Given the description of an element on the screen output the (x, y) to click on. 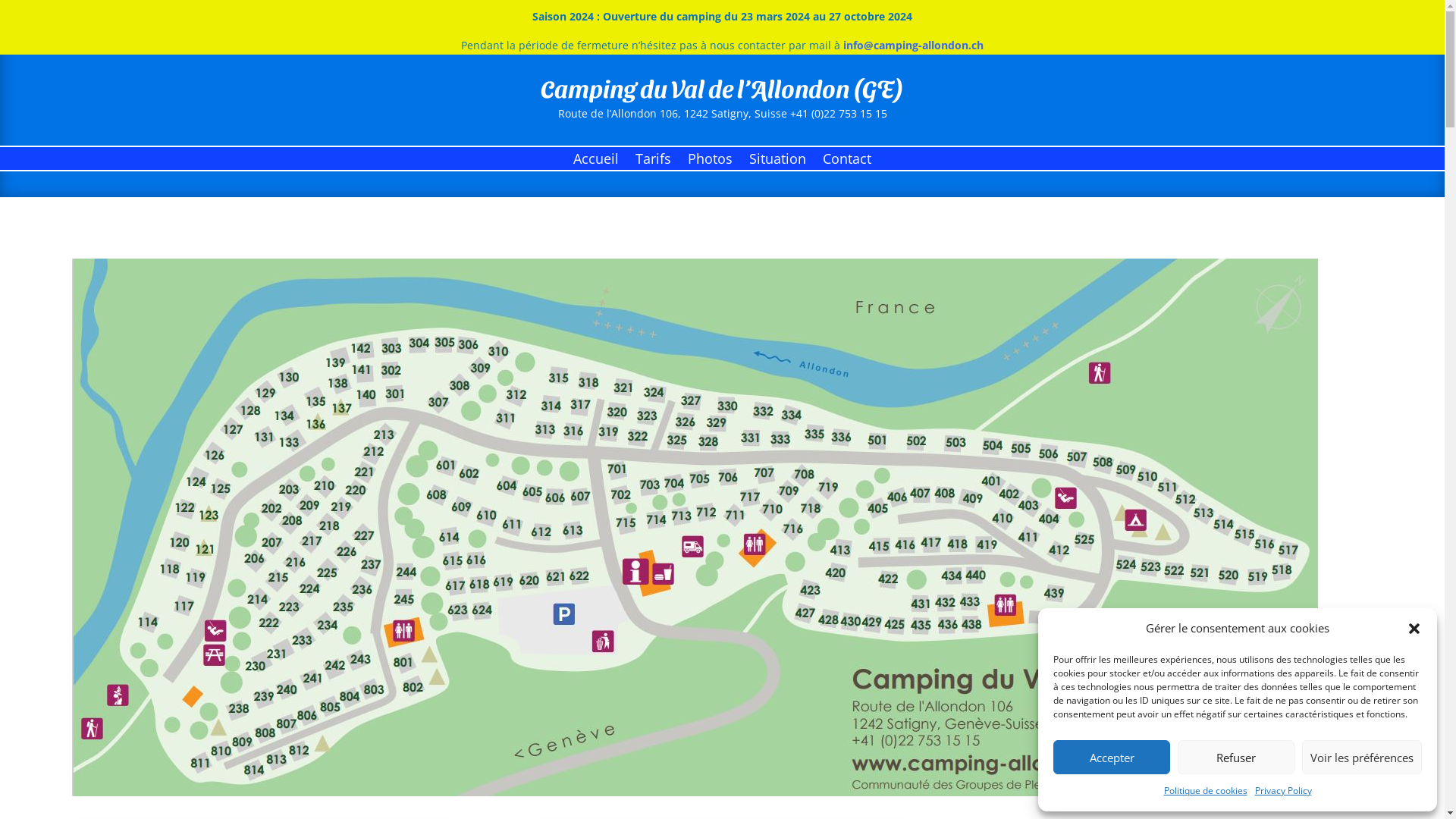
Refuser Element type: text (1235, 757)
info@camping-allondon.ch Element type: text (913, 44)
Situation Element type: text (777, 161)
Politique de cookies Element type: text (1204, 790)
Accueil Element type: text (595, 161)
Privacy Policy Element type: text (1282, 790)
Accepter Element type: text (1111, 757)
Photos Element type: text (709, 161)
Tarifs Element type: text (653, 161)
PlanCamping Element type: hover (694, 527)
Contact Element type: text (846, 161)
